Given the description of an element on the screen output the (x, y) to click on. 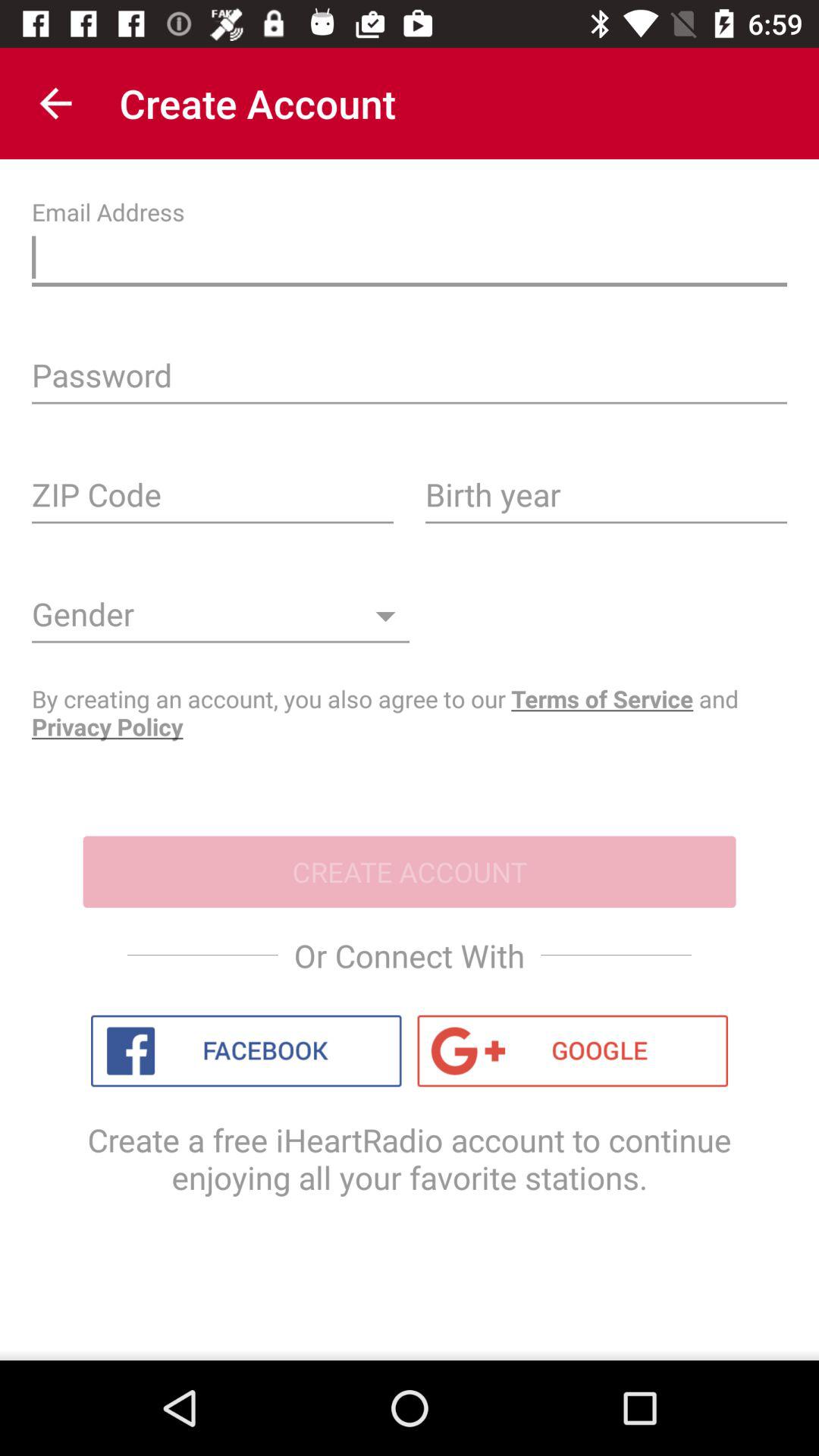
go to zip code (212, 499)
